Given the description of an element on the screen output the (x, y) to click on. 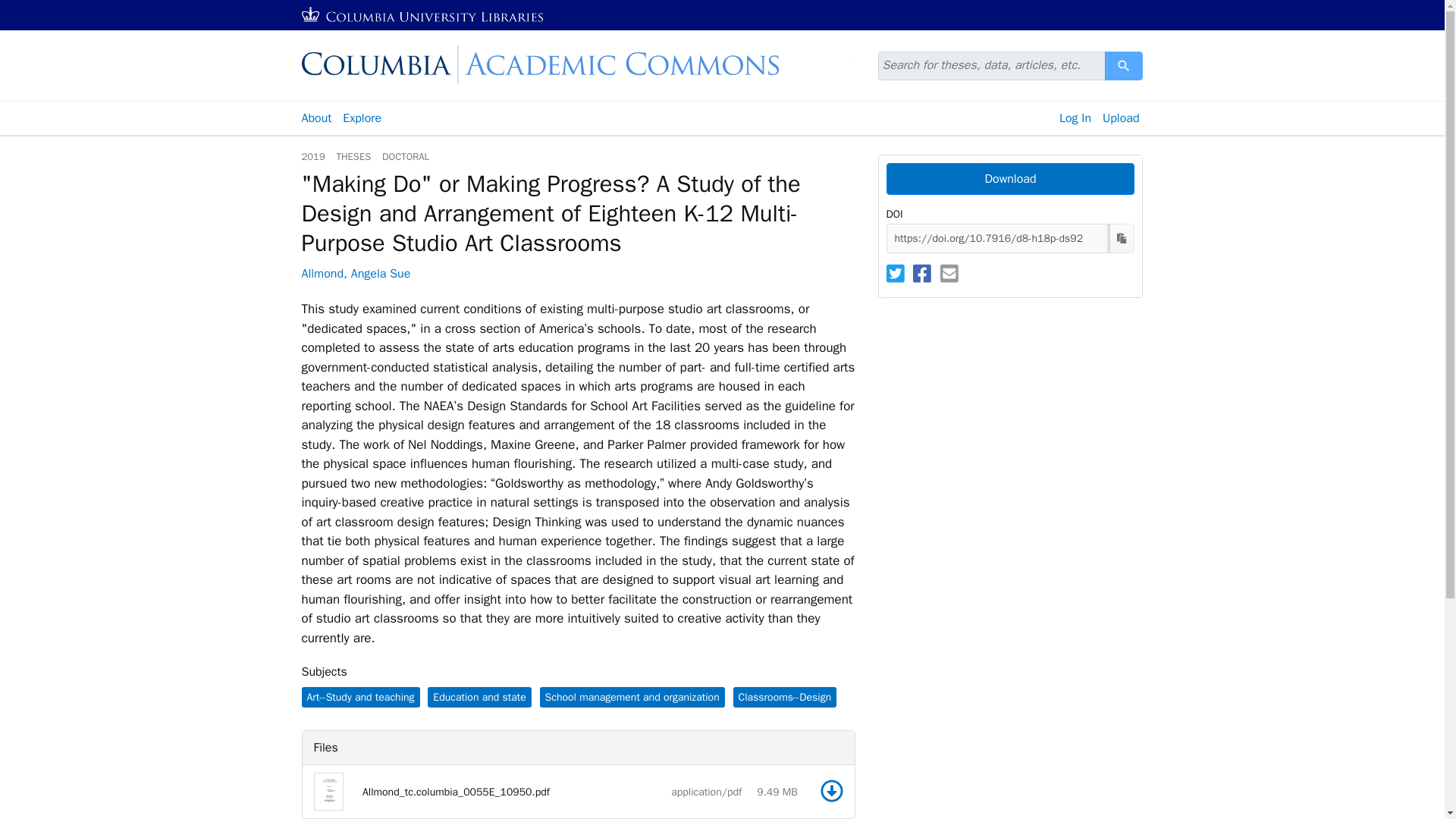
Download file (832, 790)
Upload (1120, 118)
Explore (362, 118)
Skip to main content (39, 9)
Download file (832, 790)
Search (1123, 65)
Academic Commons (578, 64)
About (315, 118)
Skip to search (36, 9)
Allmond, Angela Sue (355, 273)
